Given the description of an element on the screen output the (x, y) to click on. 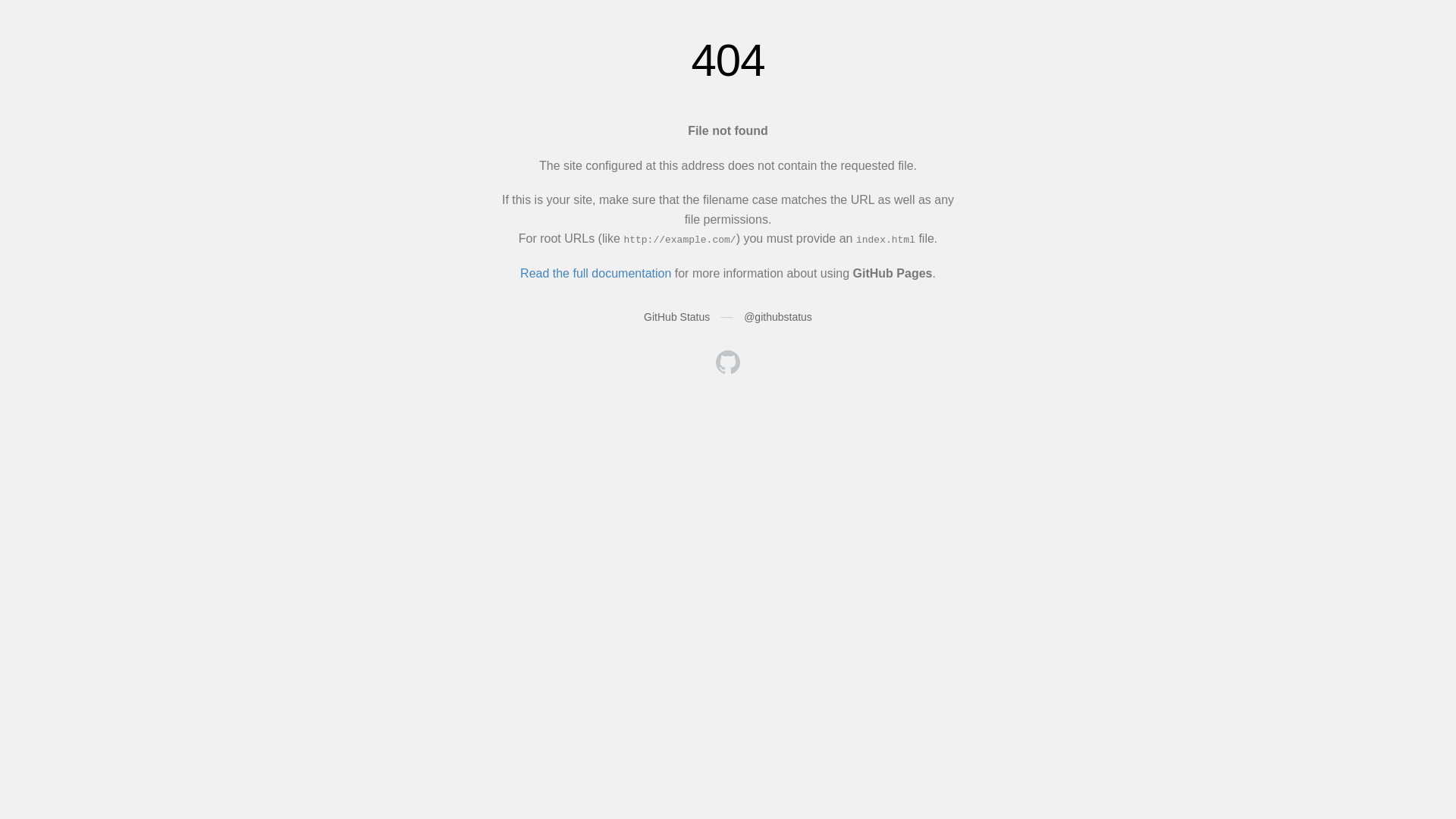
Read the full documentation Element type: text (595, 272)
@githubstatus Element type: text (777, 316)
GitHub Status Element type: text (676, 316)
